Given the description of an element on the screen output the (x, y) to click on. 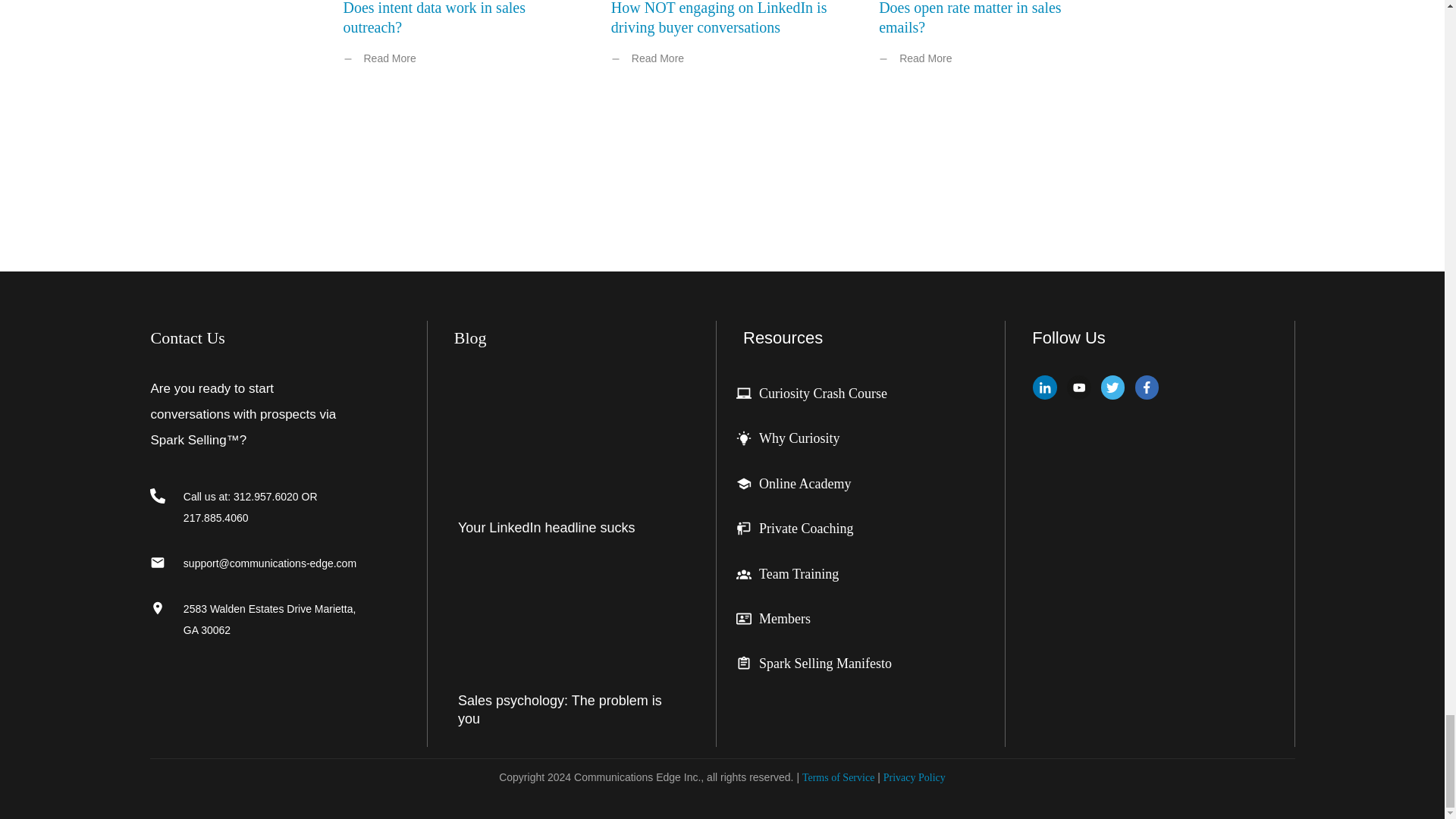
Does intent data work in sales outreach? (433, 18)
Your LinkedIn headline sucks (546, 527)
How NOT engaging on LinkedIn is driving buyer conversations (719, 18)
Sales psychology: The problem is you (560, 708)
Does open rate matter in sales emails? (970, 18)
